Given the description of an element on the screen output the (x, y) to click on. 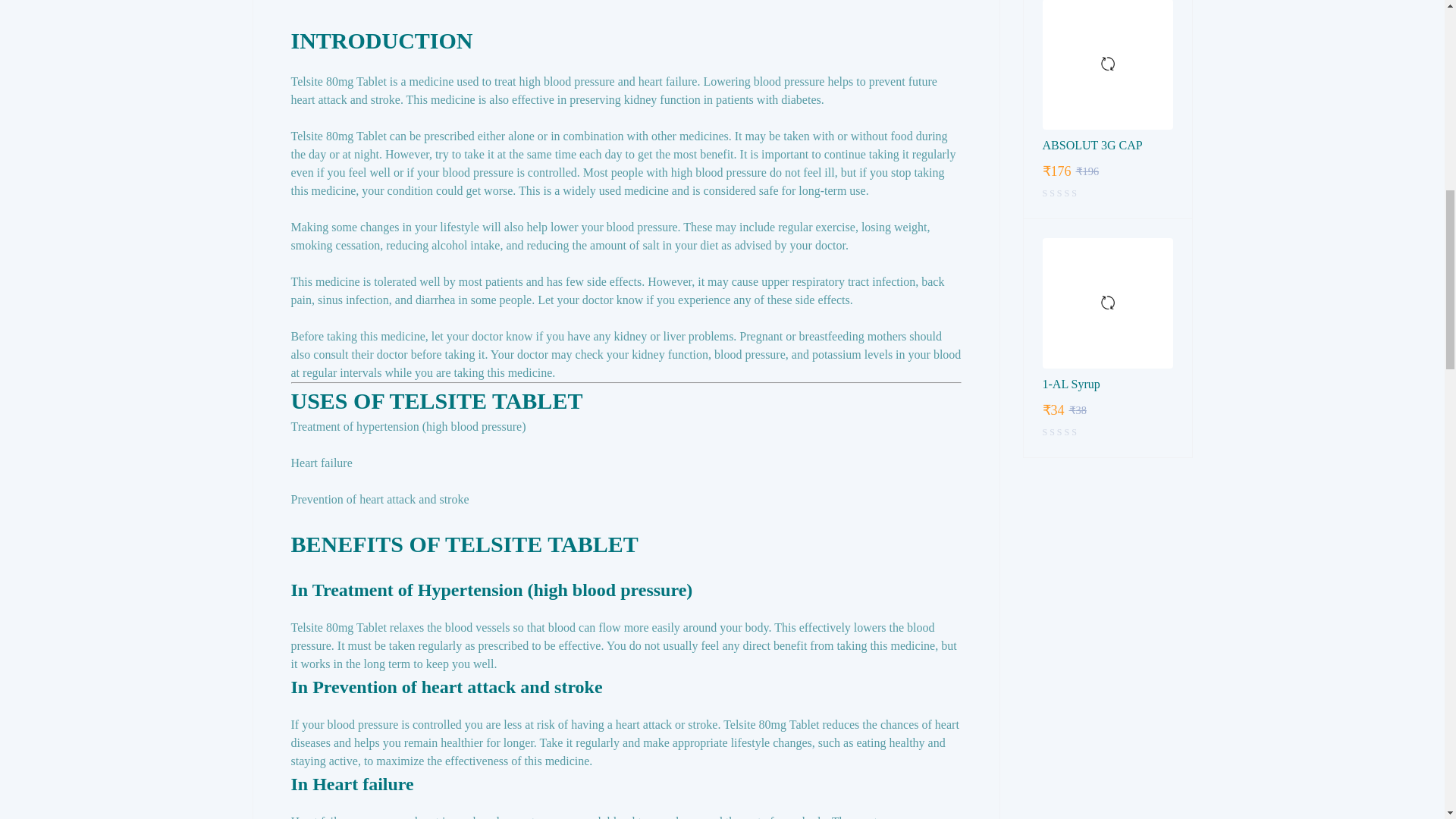
1-AL Syrup (1107, 384)
1-AL Syrup (1107, 303)
ABSOLUT 3G CAP (1107, 145)
ABSOLUT 3G CAP (1107, 64)
